Given the description of an element on the screen output the (x, y) to click on. 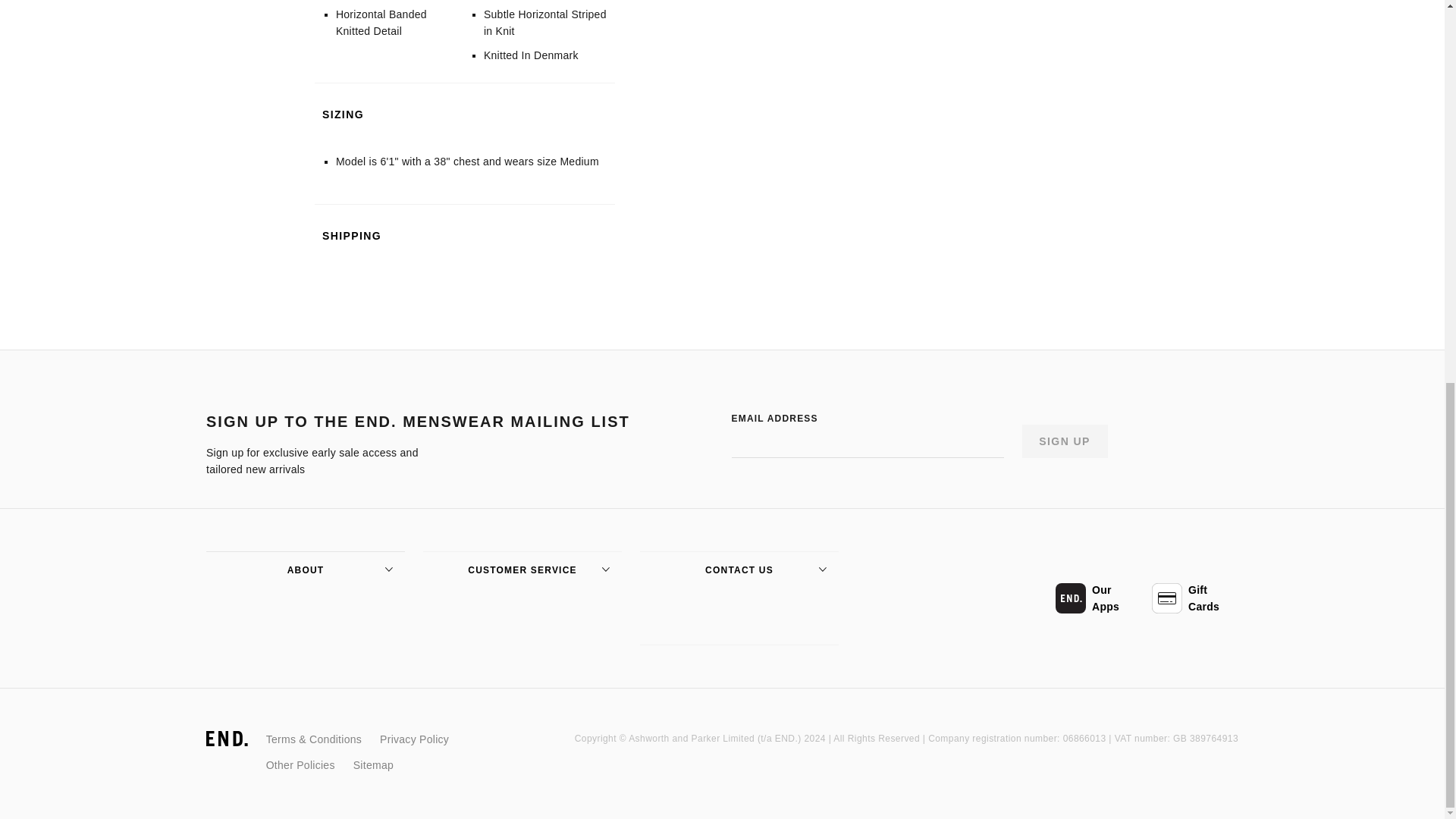
Sitemap (373, 764)
Gift Cards (1195, 598)
SIGN UP (1065, 441)
Privacy Policy (414, 739)
Other Policies (300, 764)
Our Apps (1097, 598)
